Given the description of an element on the screen output the (x, y) to click on. 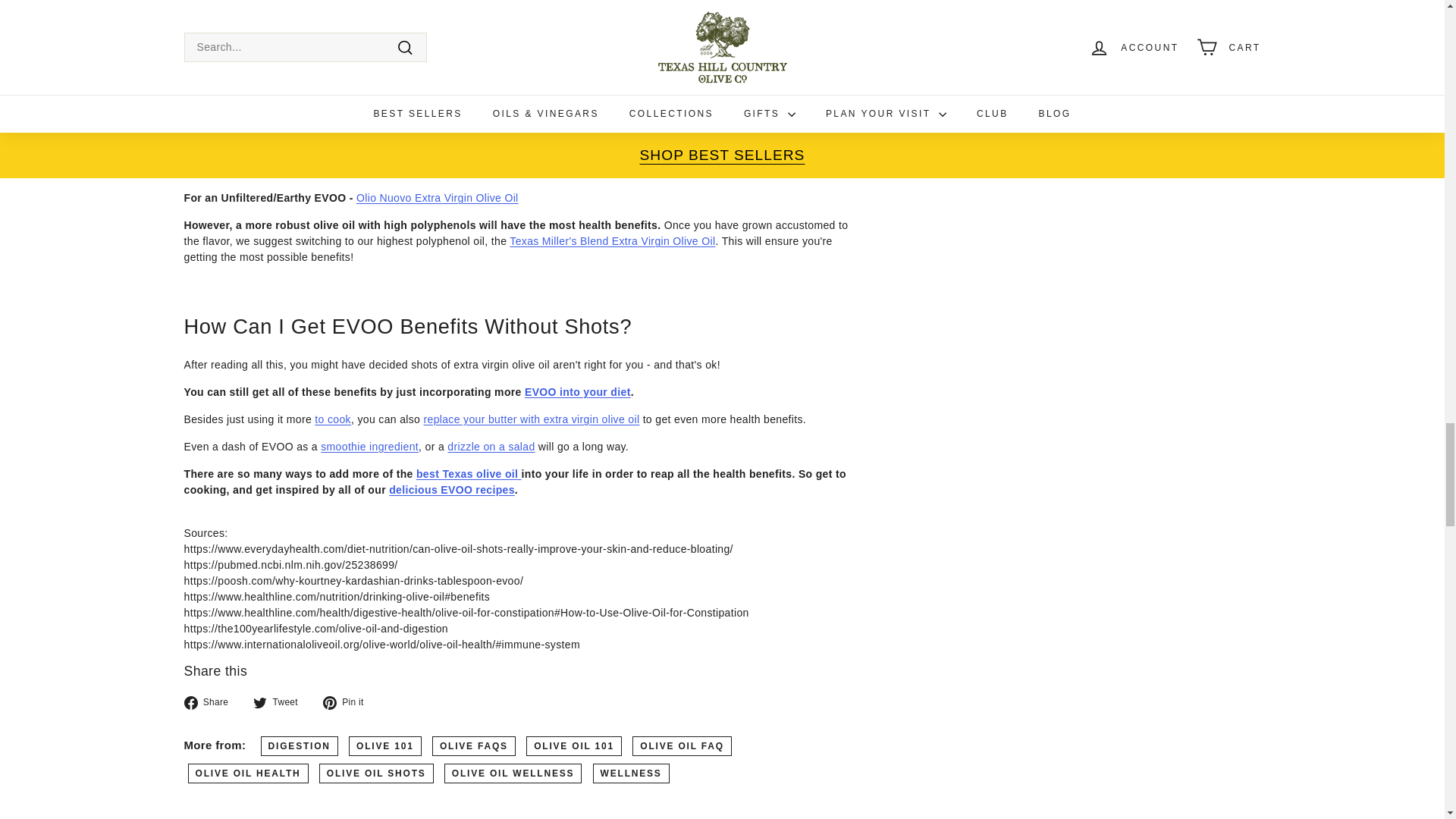
Terra Verde Extra Virgin Olive Oil (373, 170)
Texas Miller's Blend Extra Virgin Olive Oil (611, 241)
twitter (259, 703)
